Given the description of an element on the screen output the (x, y) to click on. 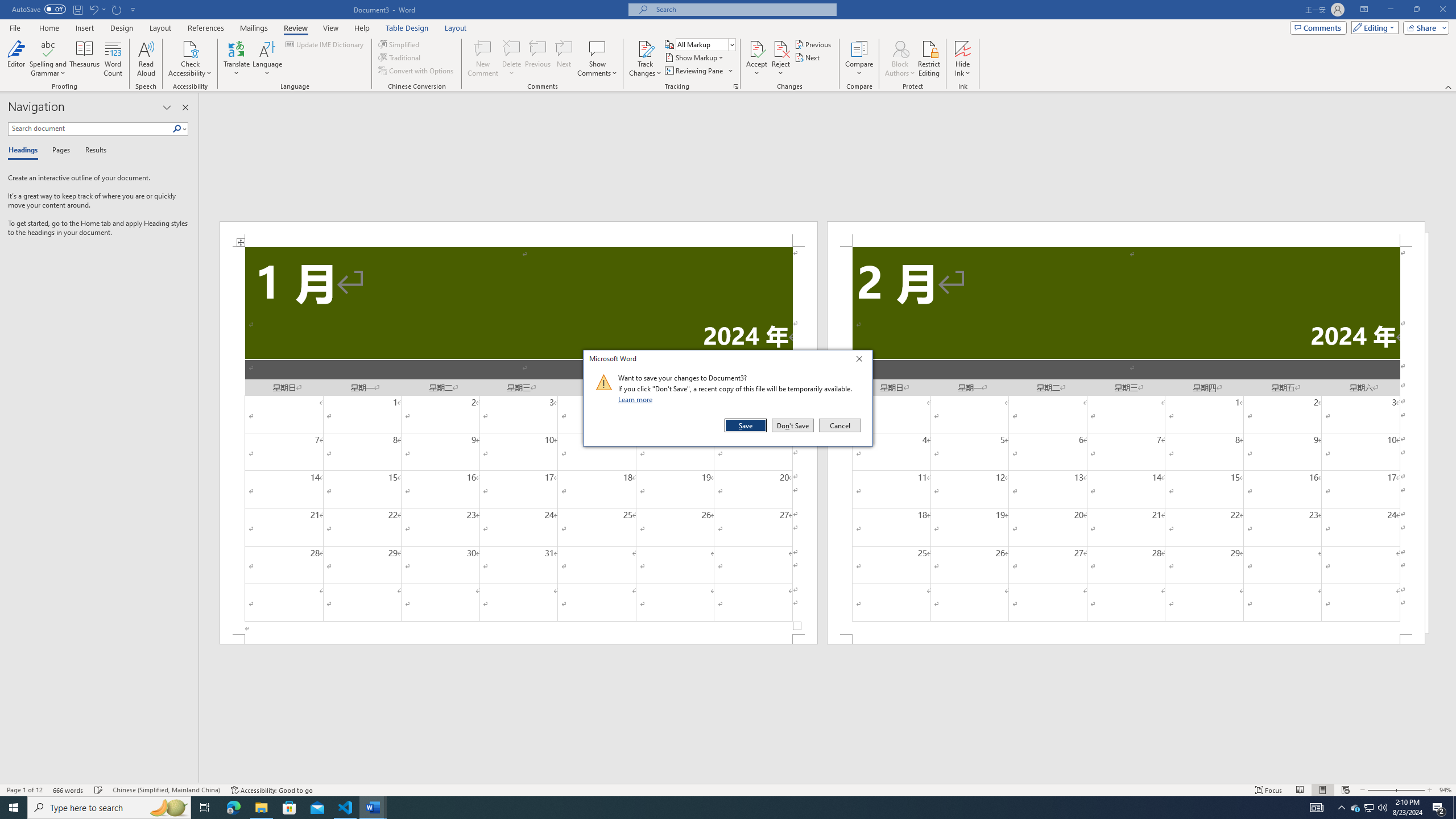
Microsoft search (742, 9)
Reviewing Pane (698, 69)
Editor (16, 58)
AutomationID: 4105 (1316, 807)
Footer -Section 2- (1126, 638)
Type here to search (108, 807)
Delete (511, 48)
Translate (236, 58)
